Given the description of an element on the screen output the (x, y) to click on. 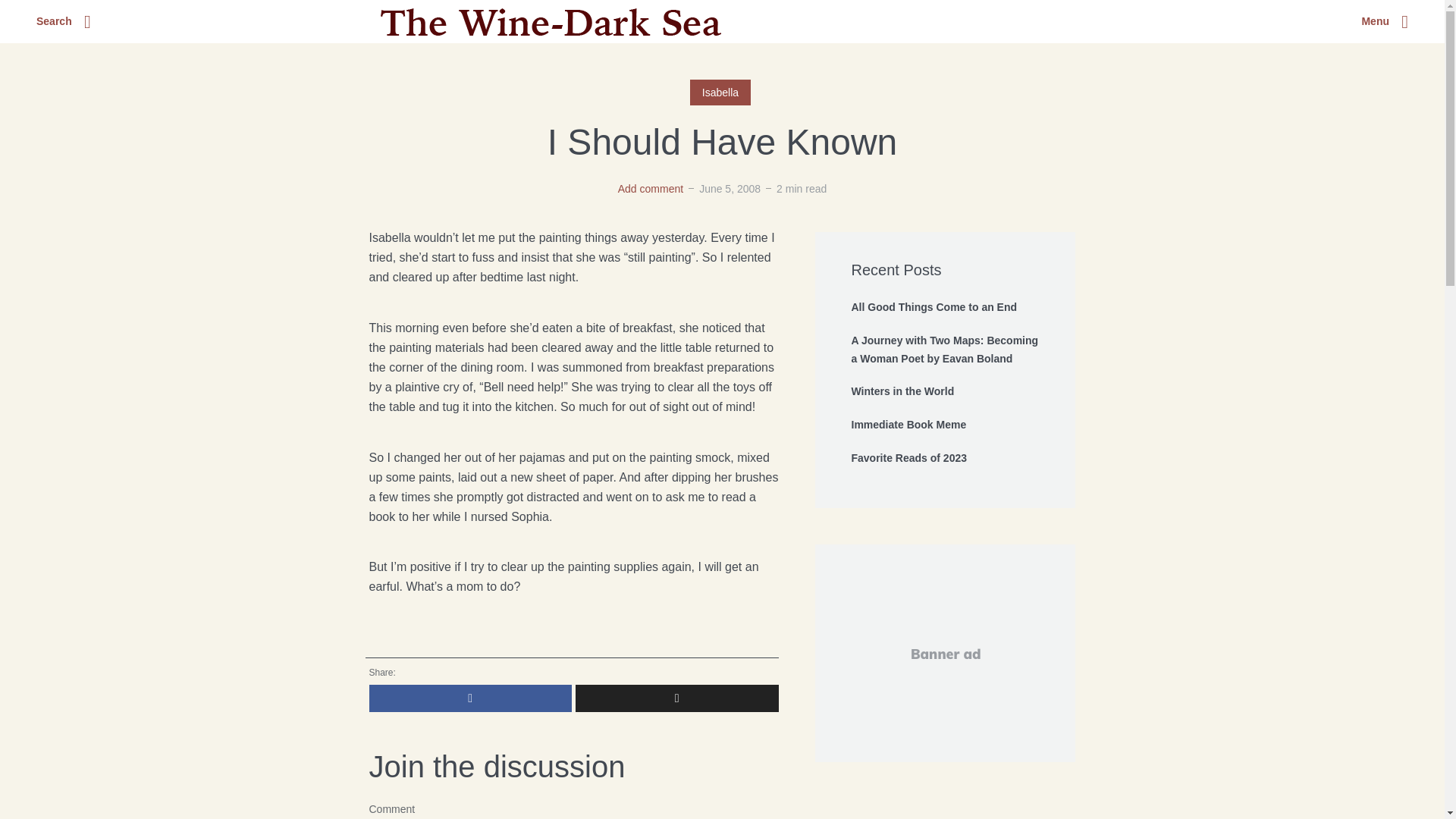
Winters in the World (944, 392)
Favorite Reads of 2023 (944, 458)
Isabella (720, 92)
Menu (1384, 21)
All Good Things Come to an End (944, 307)
Add comment (649, 188)
Search (63, 21)
Immediate Book Meme (944, 425)
Add comment (649, 188)
